Given the description of an element on the screen output the (x, y) to click on. 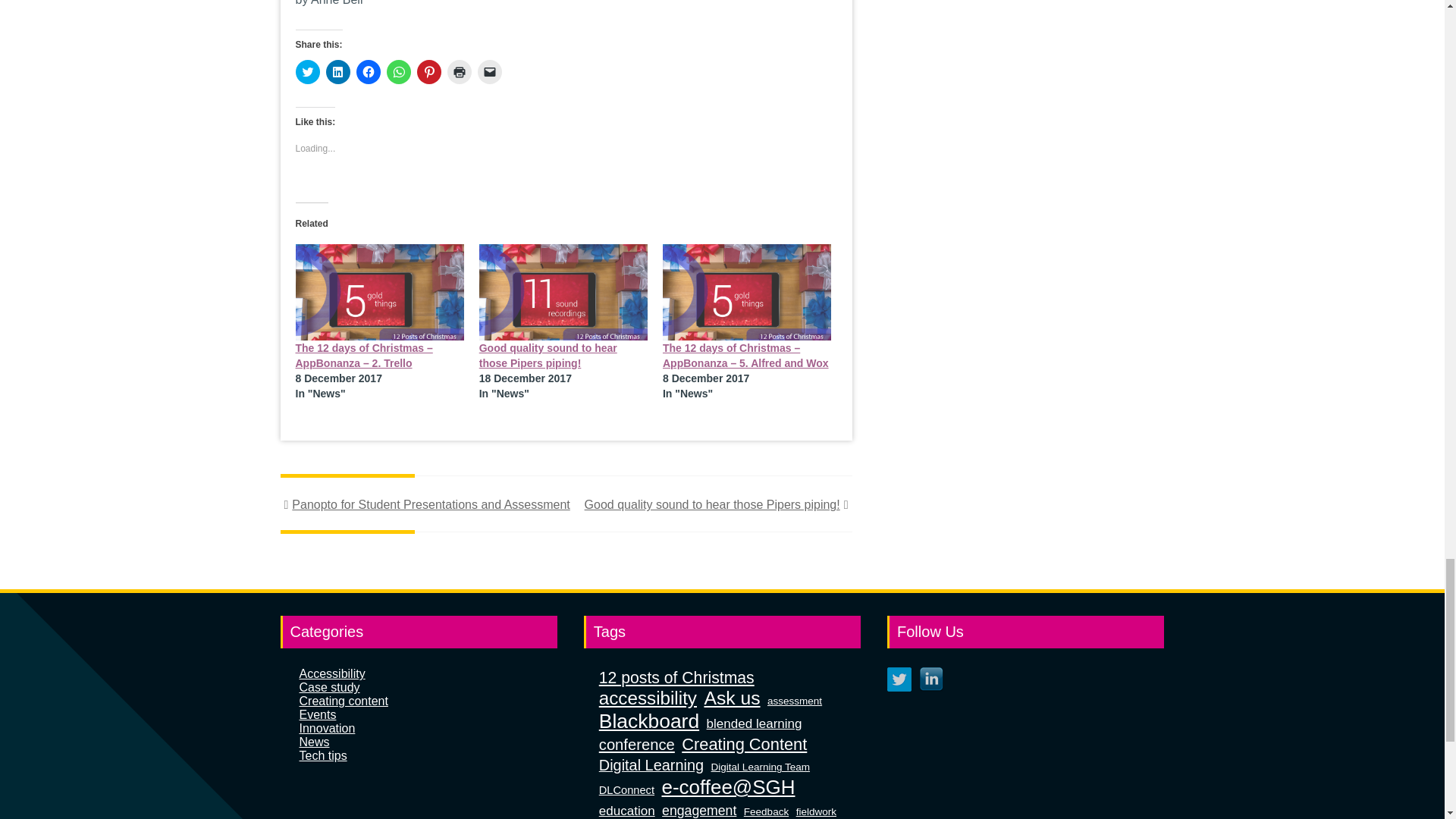
Follow Us on Twitter (898, 679)
Good quality sound to hear those Pipers piping! (548, 355)
Good quality sound to hear those Pipers piping! (563, 292)
Click to share on Facebook (368, 71)
Click to print (458, 71)
Click to email a link to a friend (489, 71)
Click to share on Pinterest (428, 71)
Click to share on LinkedIn (338, 71)
Follow Us on LinkedIn (930, 679)
Click to share on Twitter (307, 71)
